Given the description of an element on the screen output the (x, y) to click on. 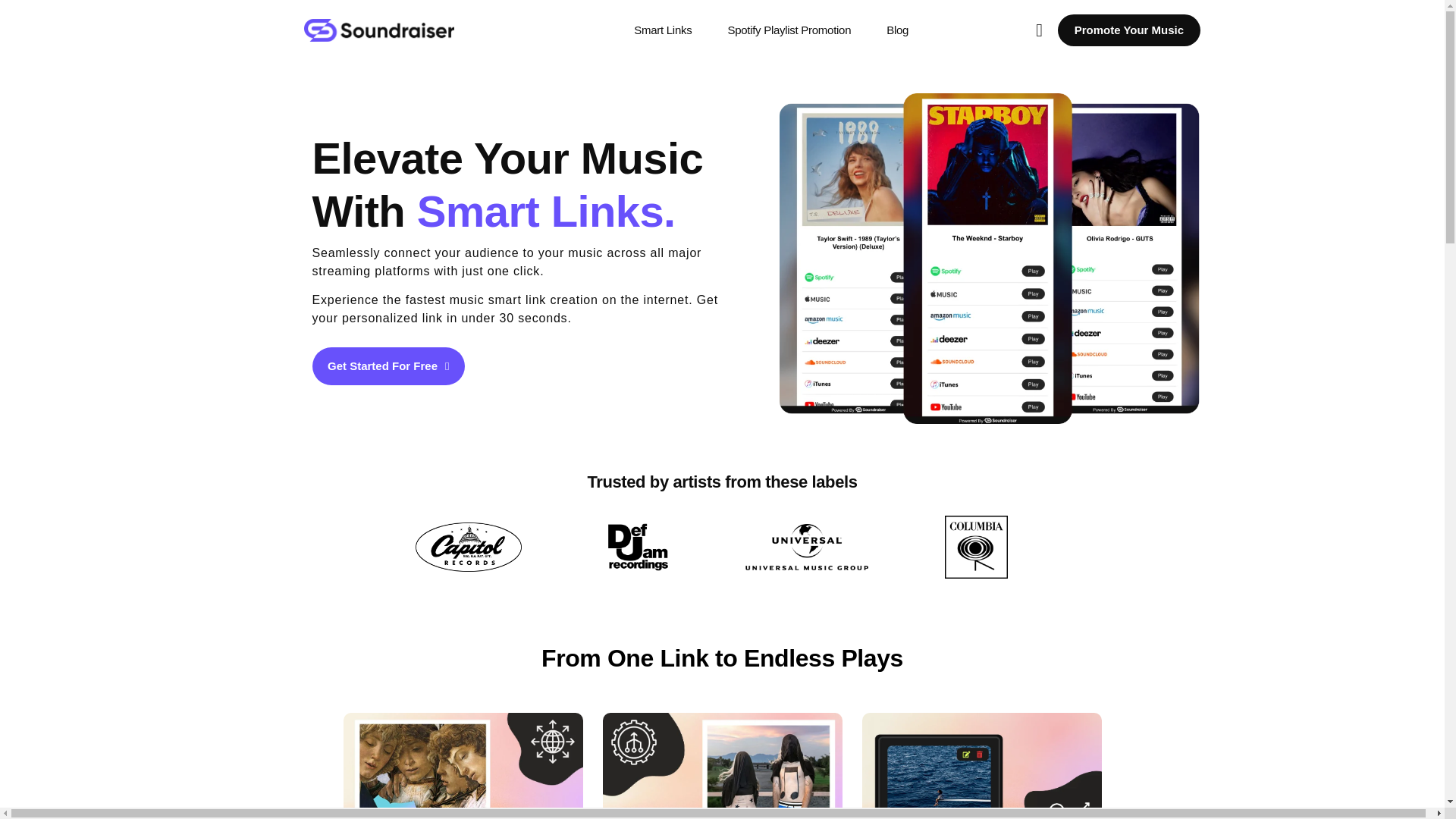
Spotify Playlist Promotion (788, 30)
Promote Your Music (1128, 29)
Blog (897, 30)
Get Started For Free (388, 365)
Smart Links (662, 30)
